Given the description of an element on the screen output the (x, y) to click on. 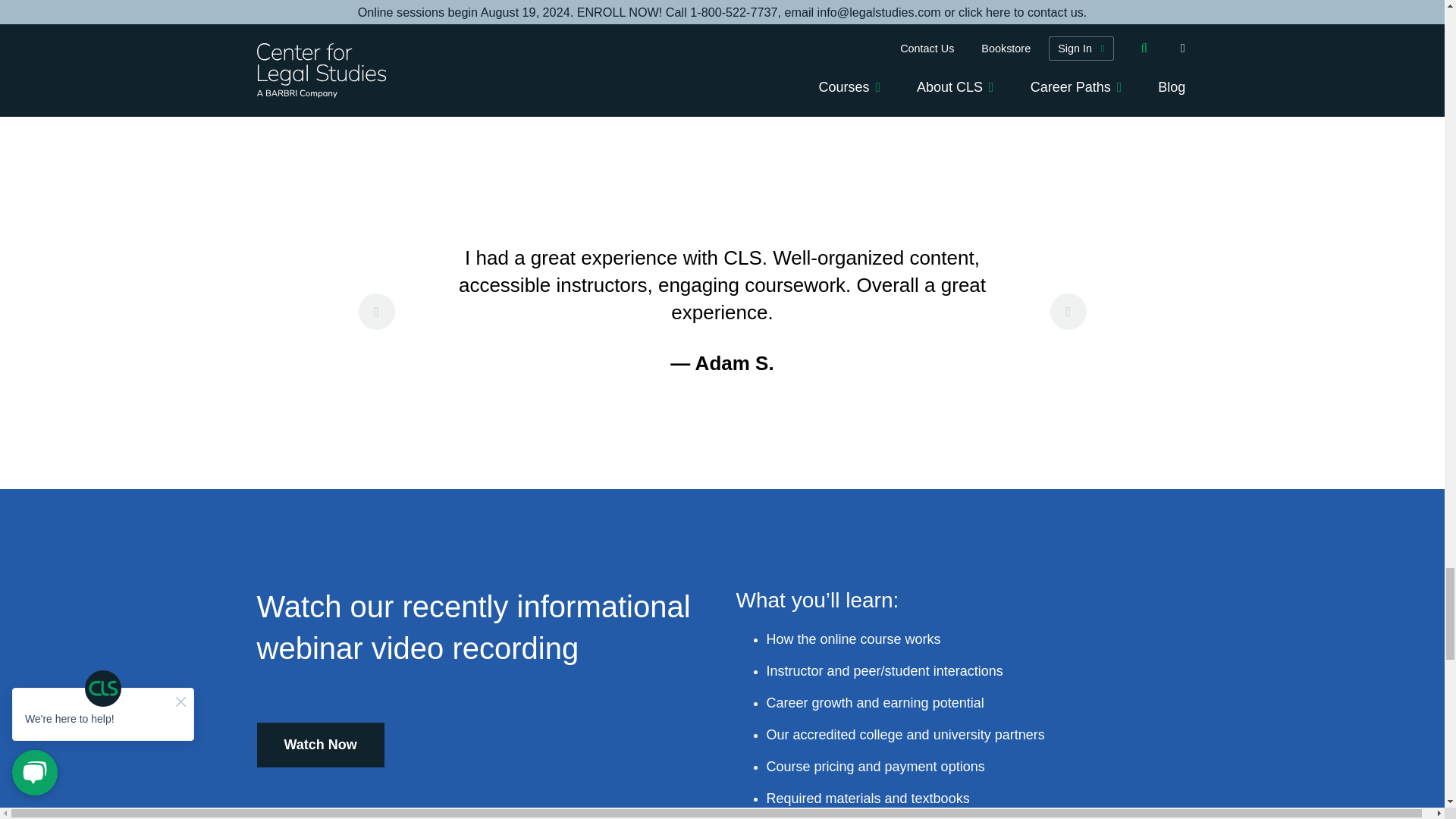
Form 0 (961, 85)
